Given the description of an element on the screen output the (x, y) to click on. 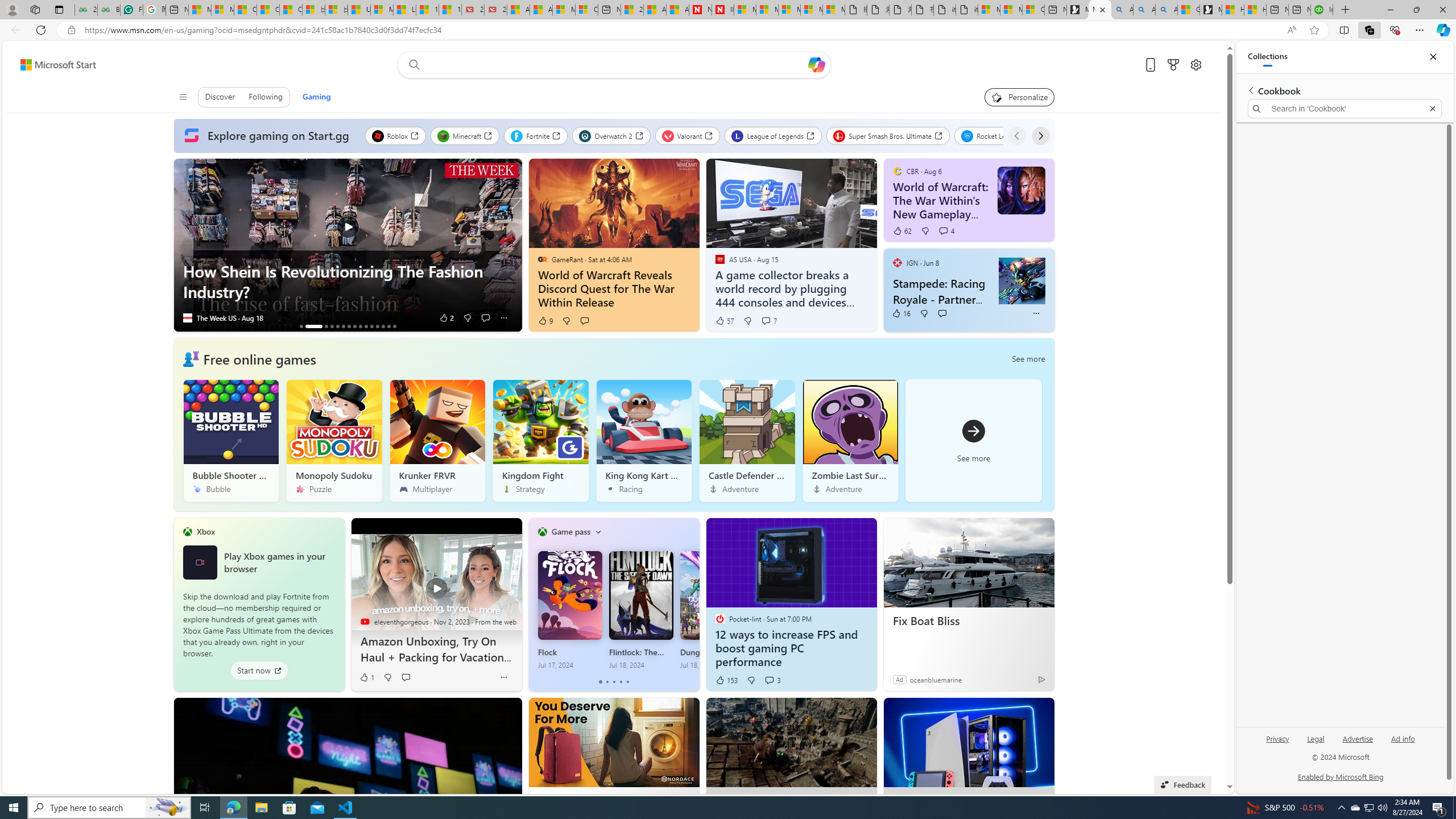
Back to list of collections (1250, 90)
Consumer Health Data Privacy Policy (1033, 9)
How Shein Is Revolutionizing The Fashion Industry? (347, 244)
Enter your search term (617, 64)
Roblox (395, 135)
King Kong Kart Racing (643, 440)
Valorant (687, 135)
tab-0 (600, 682)
Ad info (1402, 742)
AS USA (719, 258)
